Given the description of an element on the screen output the (x, y) to click on. 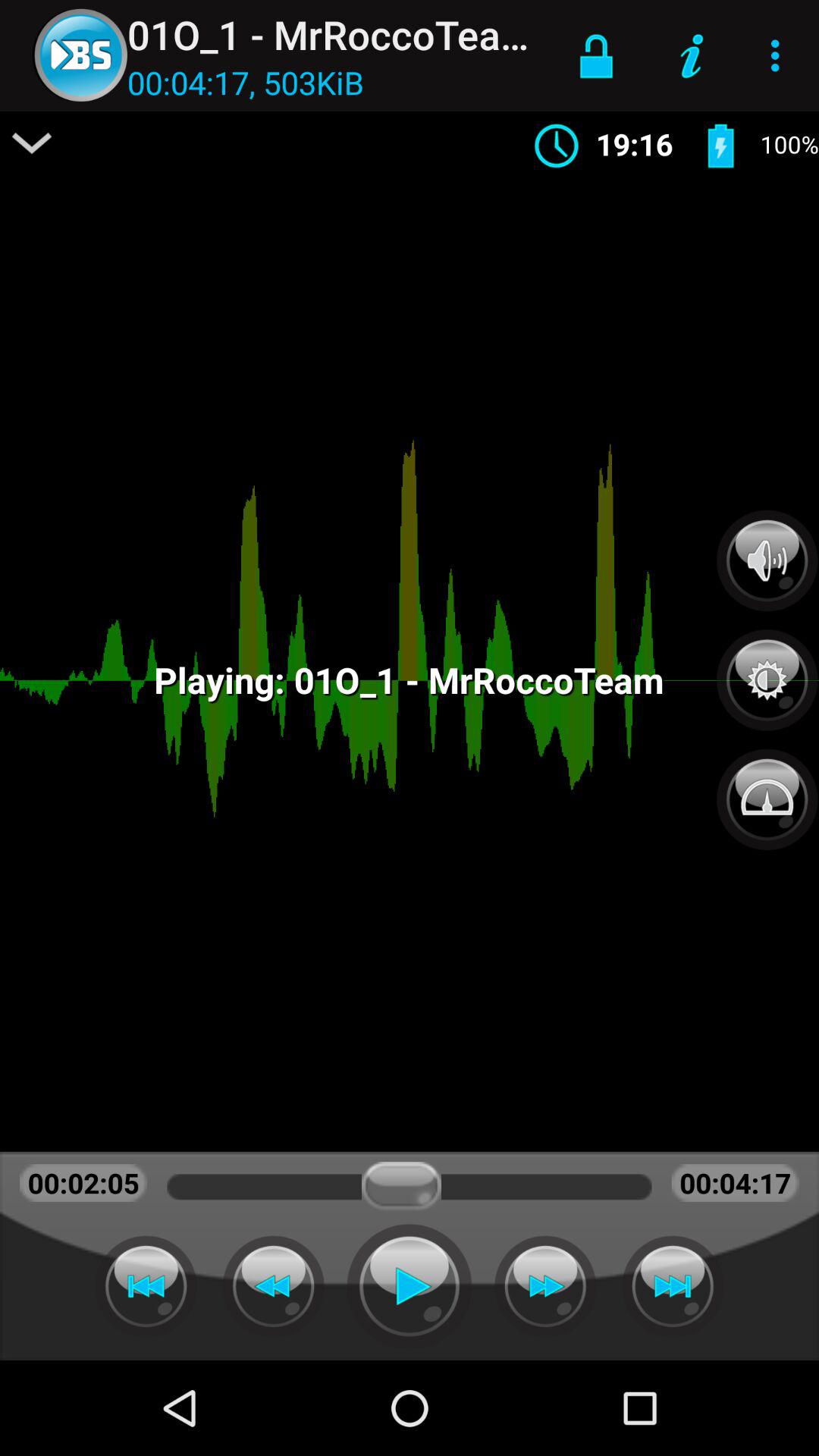
skip to the end (672, 1286)
